Given the description of an element on the screen output the (x, y) to click on. 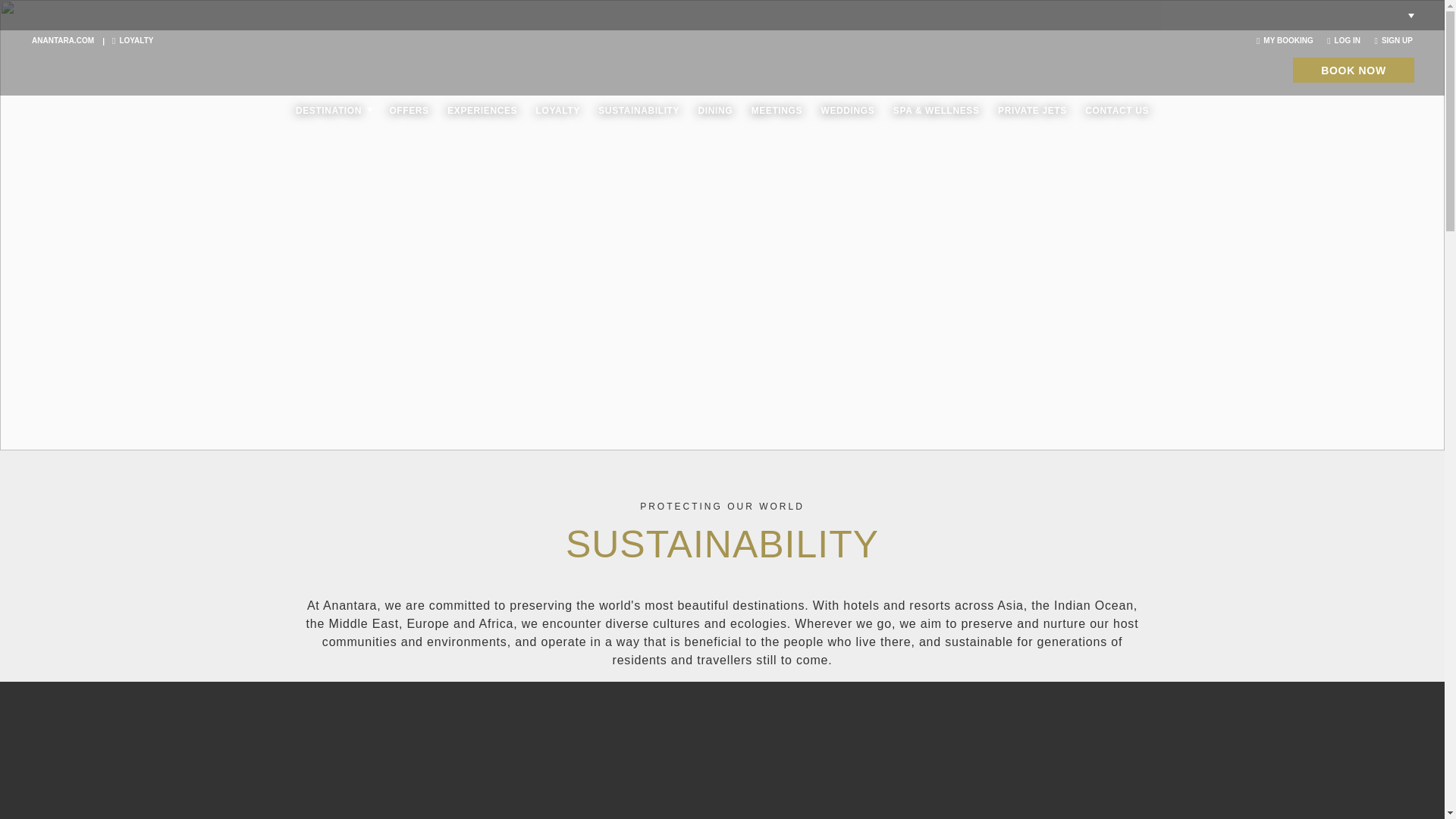
LOG IN (1342, 40)
LOYALTY (132, 40)
SIGN UP (1393, 40)
BOOK NOW (1352, 69)
ANANTARA.COM (63, 40)
MY BOOKING (1284, 40)
DESTINATION (328, 110)
